Given the description of an element on the screen output the (x, y) to click on. 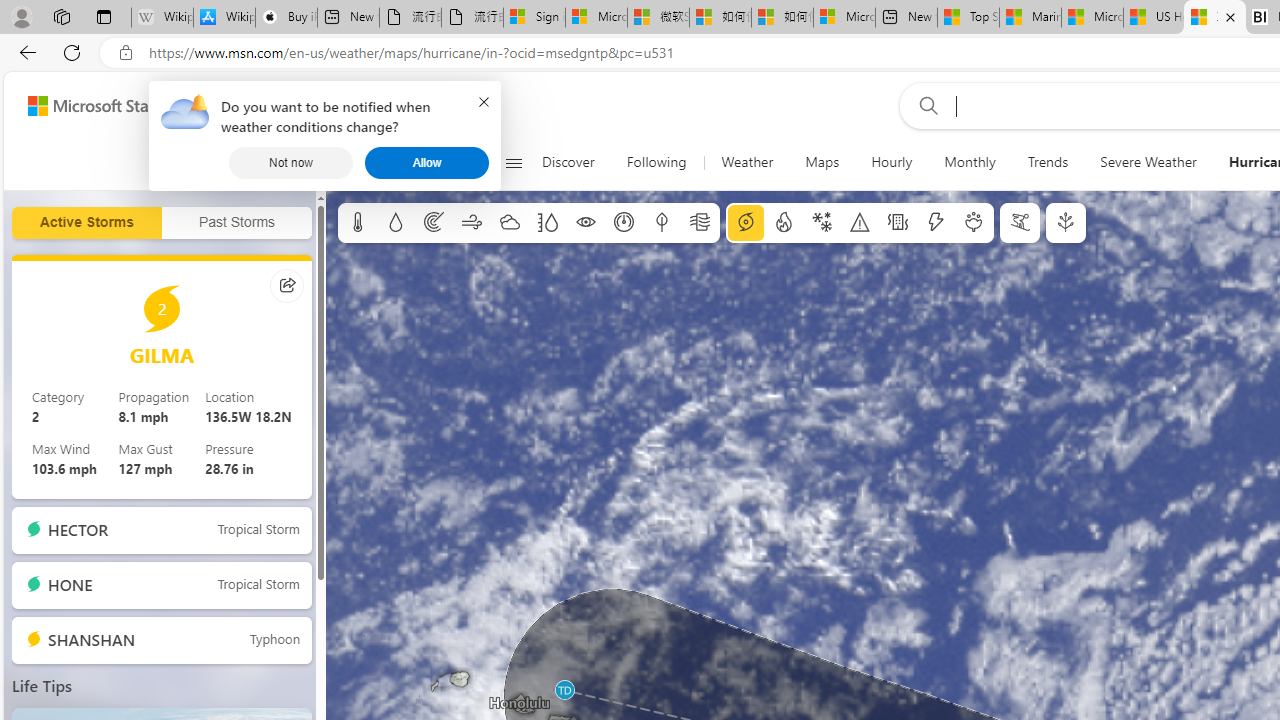
Severe weather (860, 223)
Visibility (586, 223)
Allow (426, 162)
Active Storms (86, 223)
Past Storms (237, 223)
